Given the description of an element on the screen output the (x, y) to click on. 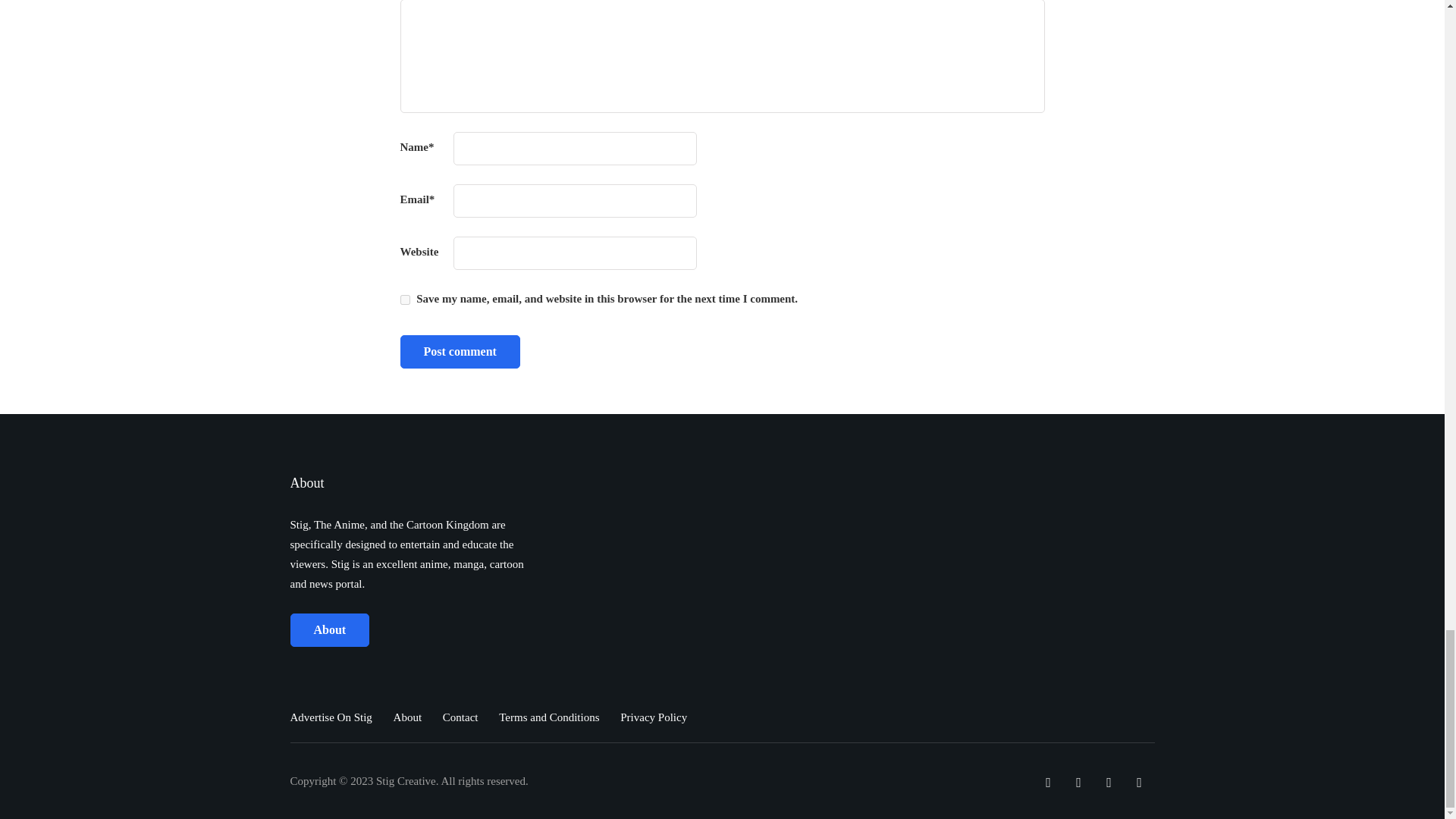
Post comment (459, 351)
yes (405, 299)
